Given the description of an element on the screen output the (x, y) to click on. 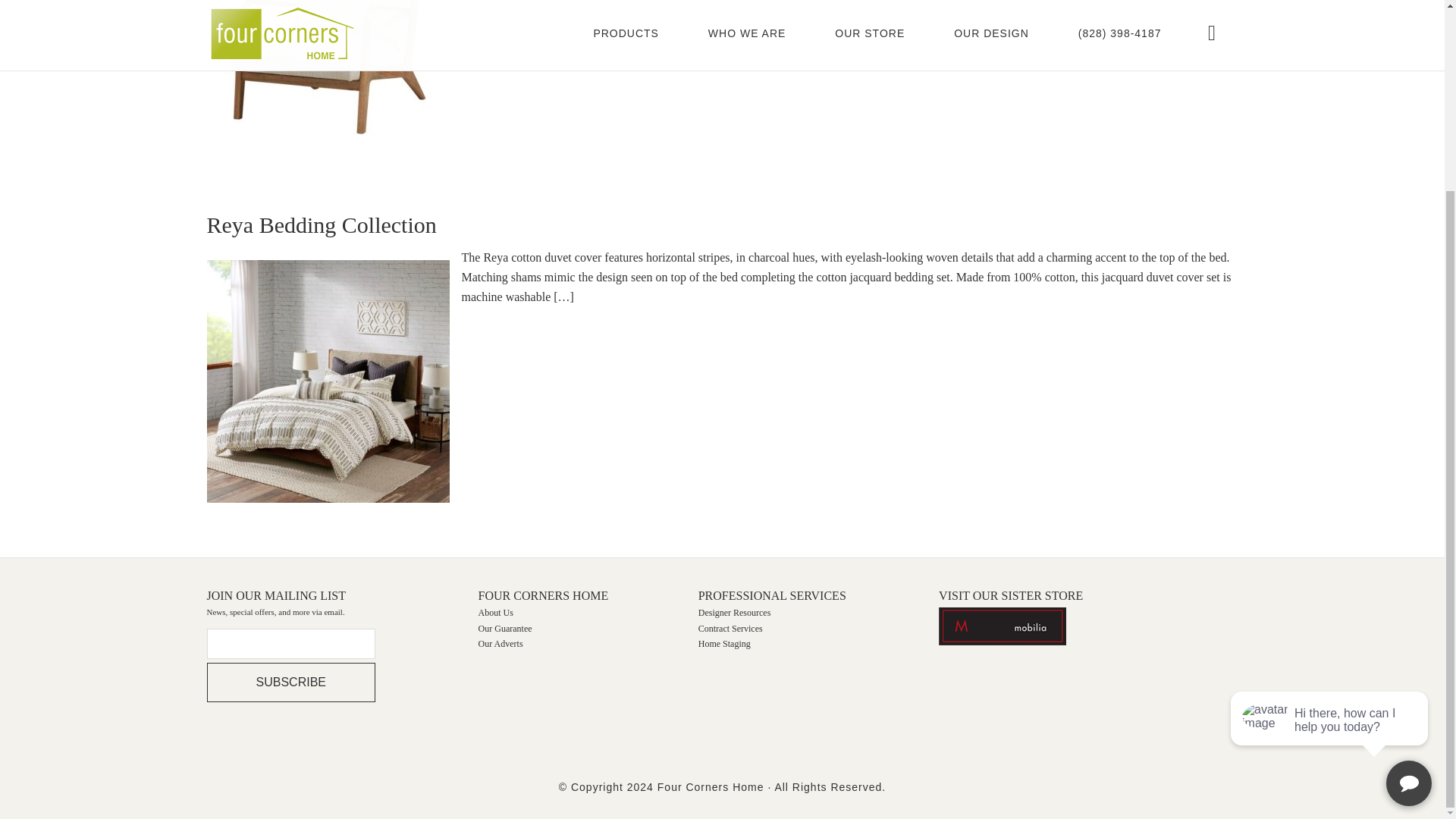
Our Adverts (500, 643)
Subscribe (290, 681)
Subscribe (290, 681)
Our Guarantee (505, 628)
About Us (496, 612)
Designer Resources (734, 612)
Reya Bedding Collection (320, 224)
